Given the description of an element on the screen output the (x, y) to click on. 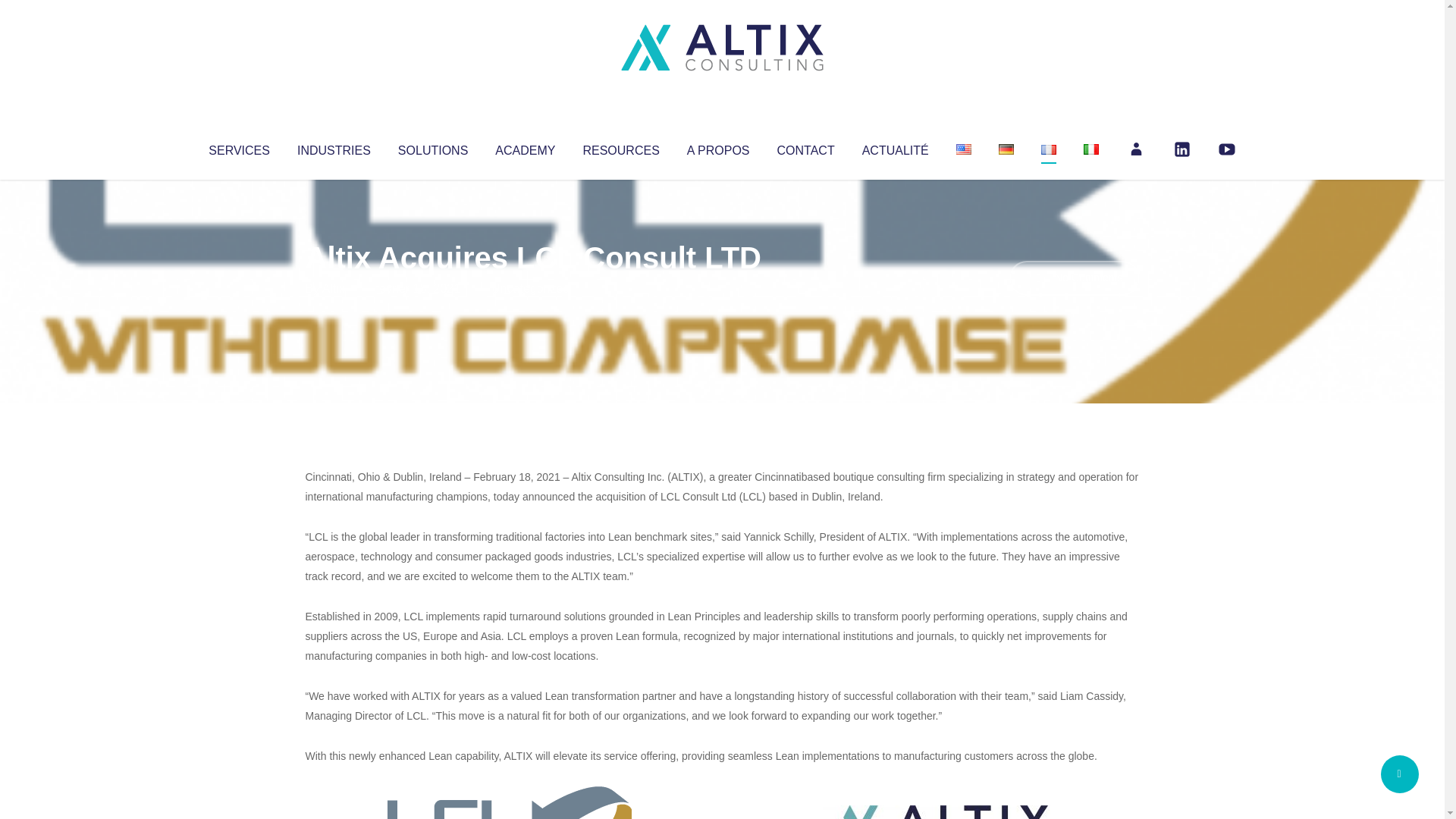
A PROPOS (718, 146)
ACADEMY (524, 146)
Uncategorized (530, 287)
SOLUTIONS (432, 146)
INDUSTRIES (334, 146)
Altix (333, 287)
SERVICES (238, 146)
No Comments (1073, 278)
RESOURCES (620, 146)
Articles par Altix (333, 287)
